Given the description of an element on the screen output the (x, y) to click on. 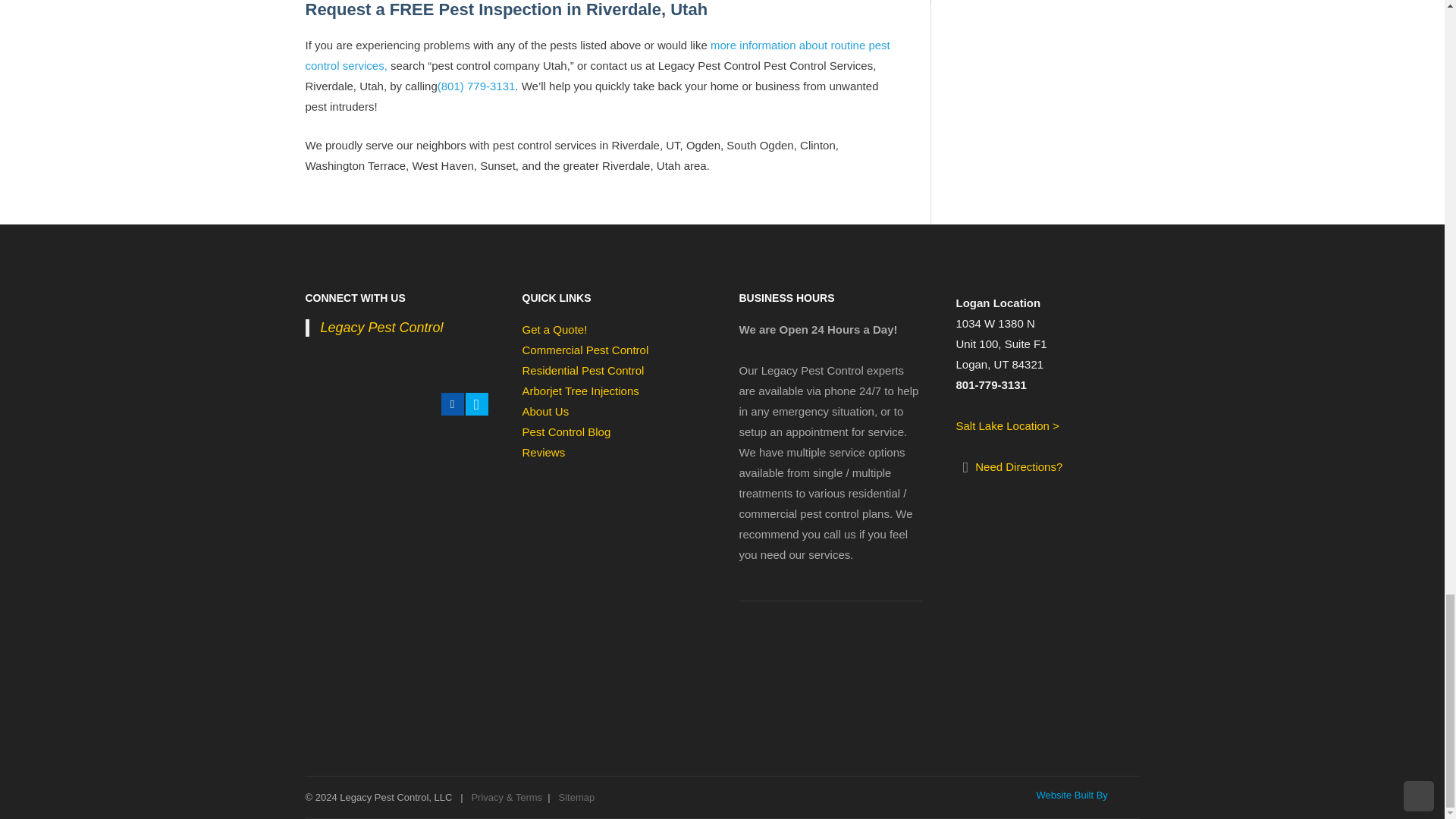
more information about routine pest control services, (596, 55)
